Given the description of an element on the screen output the (x, y) to click on. 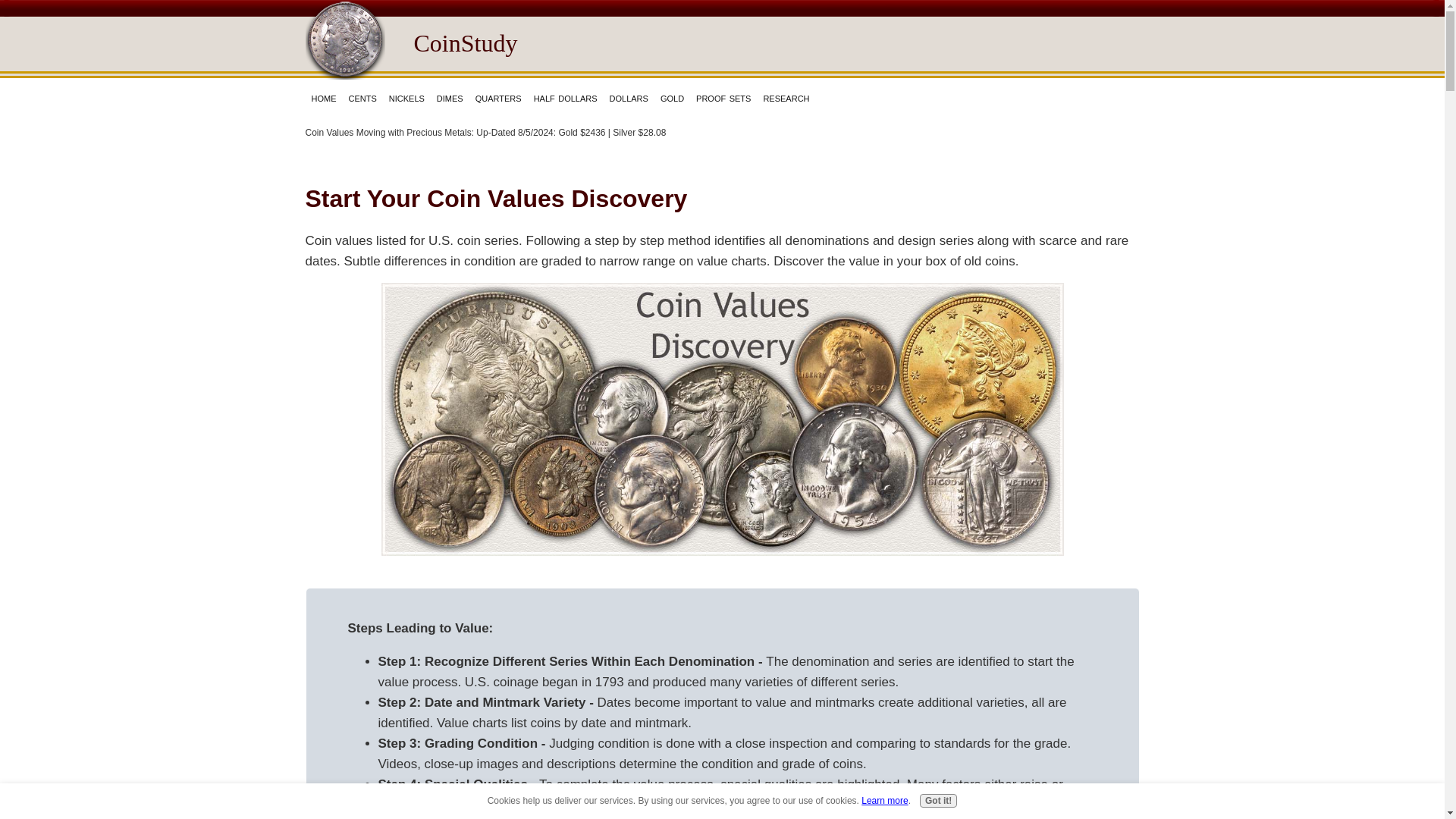
home (323, 97)
CoinStudy (465, 42)
